Given the description of an element on the screen output the (x, y) to click on. 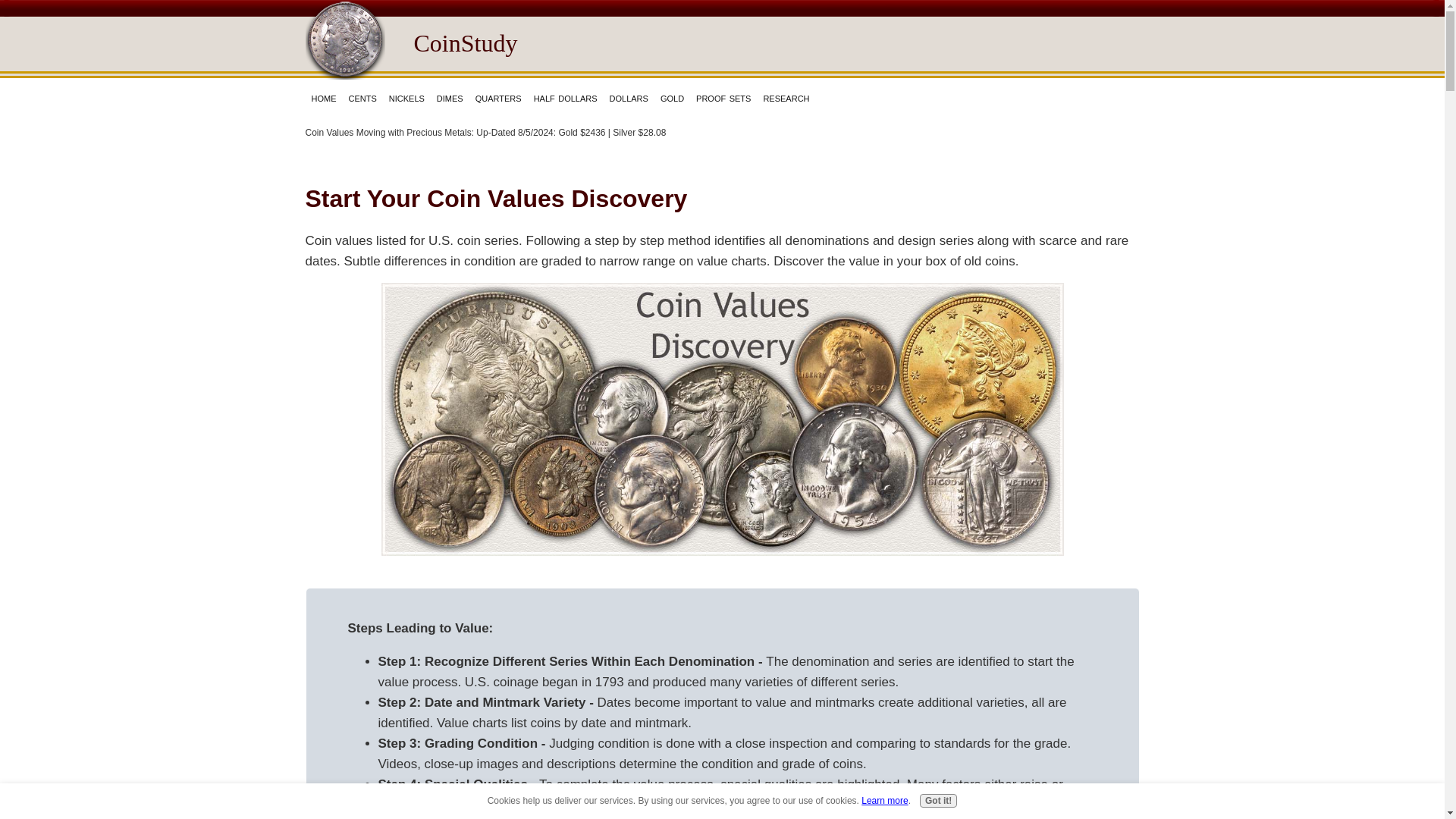
home (323, 97)
CoinStudy (465, 42)
